Given the description of an element on the screen output the (x, y) to click on. 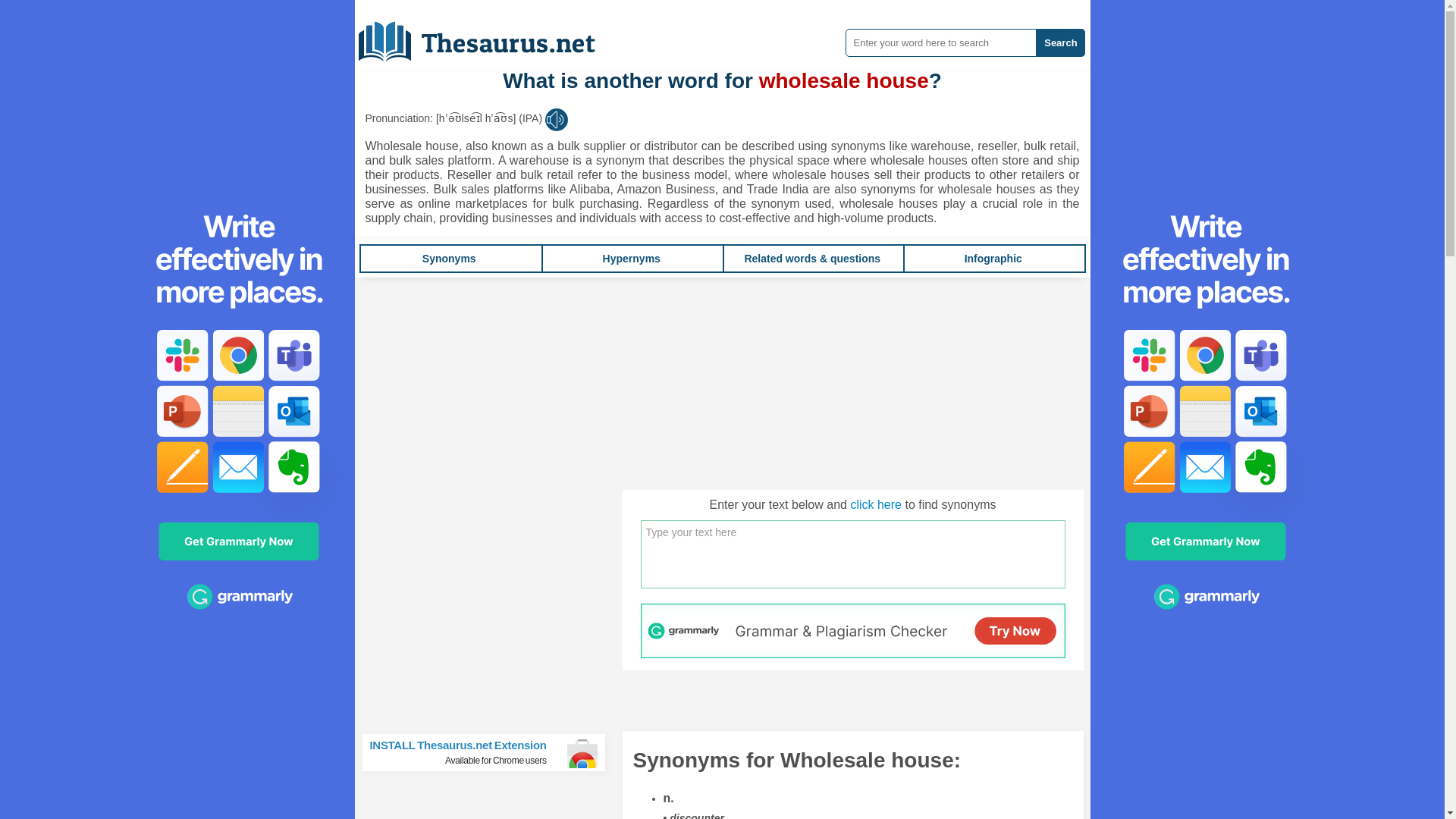
Infographic (992, 258)
Synonyms (449, 258)
Infographic (992, 258)
Hypernyms (631, 258)
Synonyms (449, 258)
Hypernyms (631, 258)
Search (1060, 42)
Thesaurus.net (489, 752)
click here (487, 35)
